Given the description of an element on the screen output the (x, y) to click on. 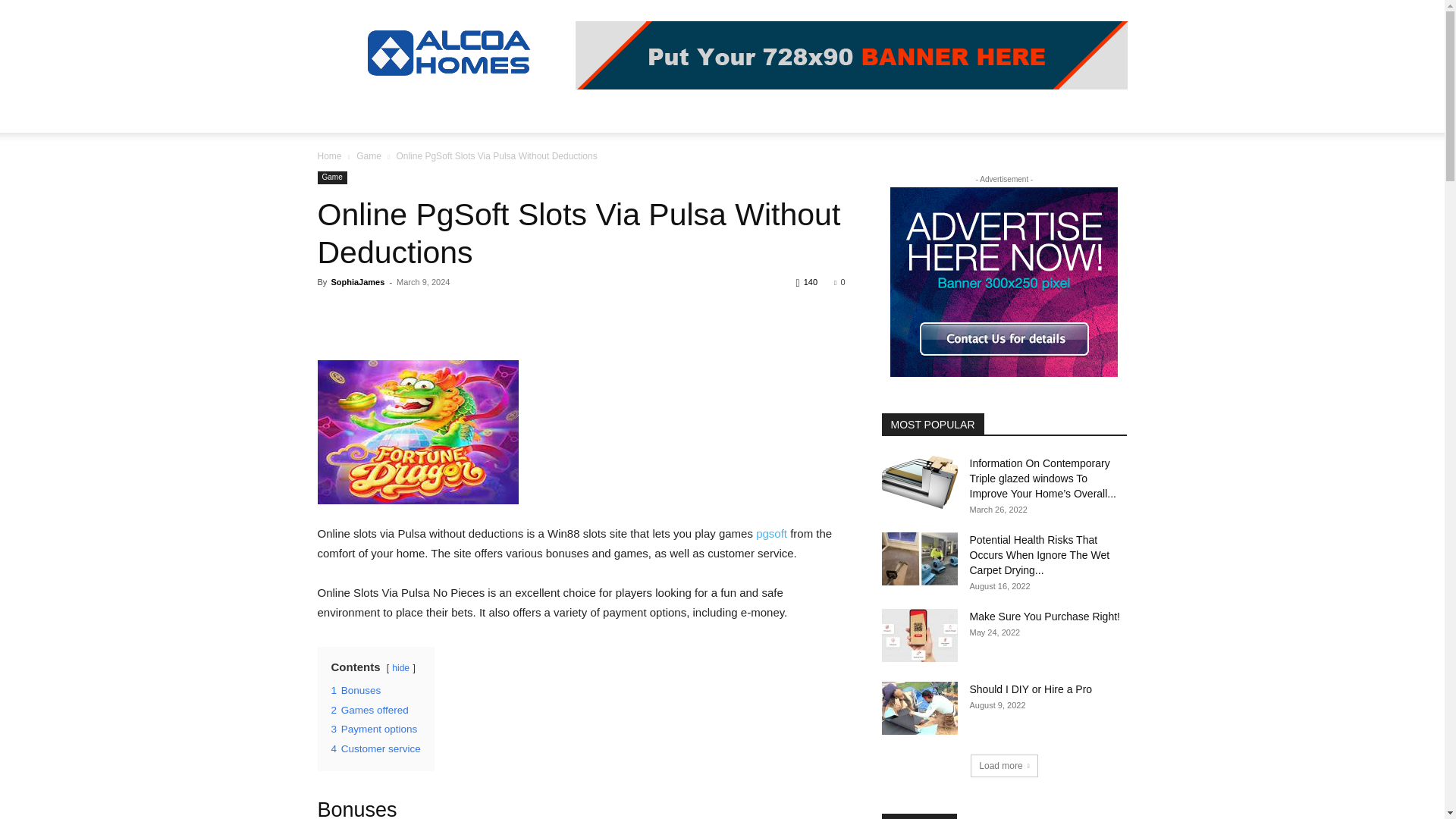
HOME (343, 114)
Home (328, 155)
Search (1085, 174)
WRITE FOR US (834, 114)
CONTACT (919, 114)
LAWN AND GARDEN (568, 114)
Game (368, 155)
FURNITURE (672, 114)
View all posts in Game (368, 155)
LOG IN (750, 114)
HOME IMPROVEMENT (437, 114)
